Given the description of an element on the screen output the (x, y) to click on. 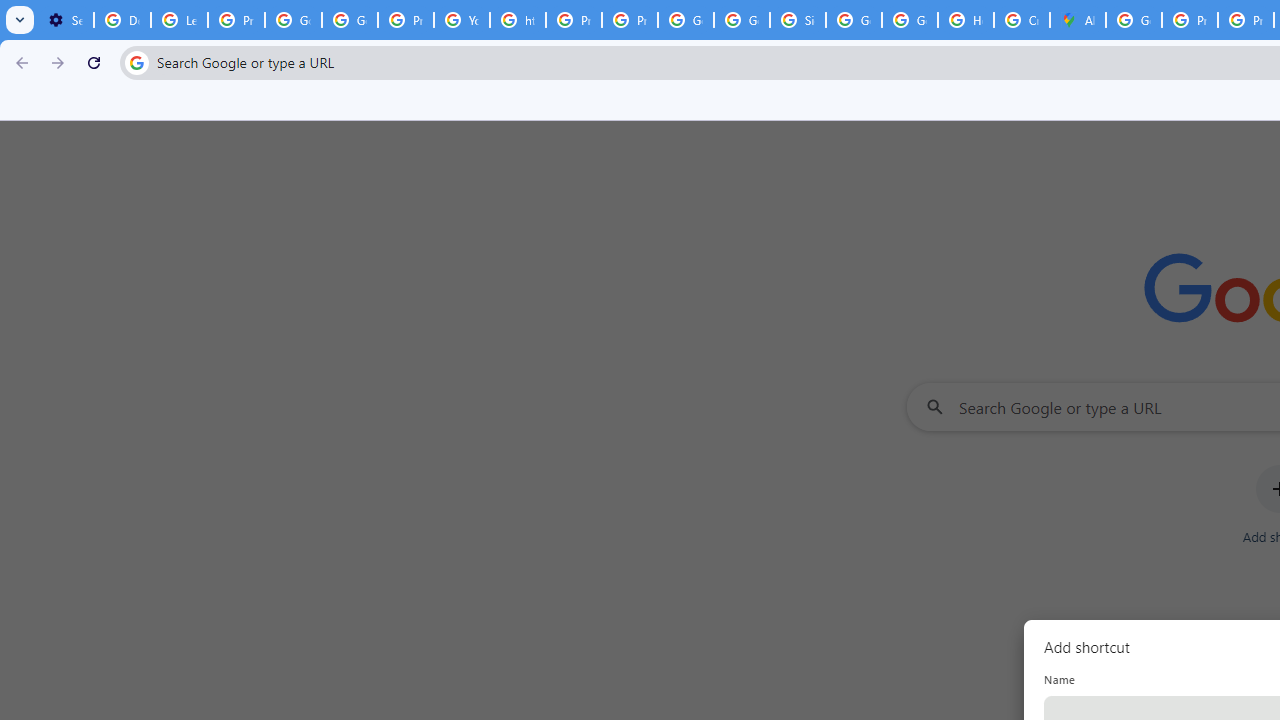
Sign in - Google Accounts (797, 20)
Delete photos & videos - Computer - Google Photos Help (122, 20)
Create your Google Account (1021, 20)
